Given the description of an element on the screen output the (x, y) to click on. 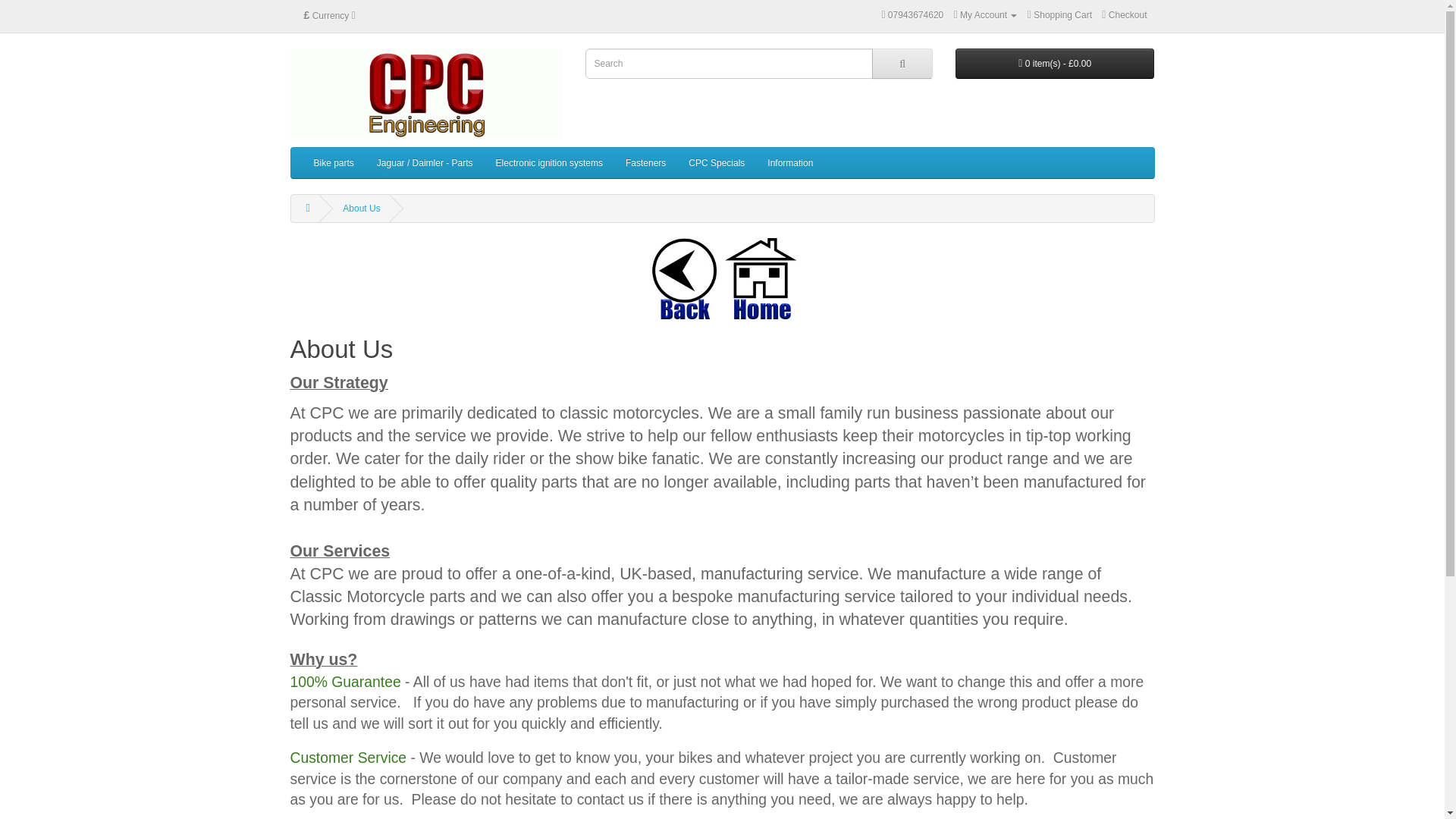
Information (789, 163)
Home (759, 279)
About Us (361, 208)
Shopping Cart (1059, 14)
Shopping Cart (1059, 14)
CPC Specials (716, 163)
My Account (985, 14)
CPC Engineering (425, 93)
Back (684, 279)
Checkout (1124, 14)
